Given the description of an element on the screen output the (x, y) to click on. 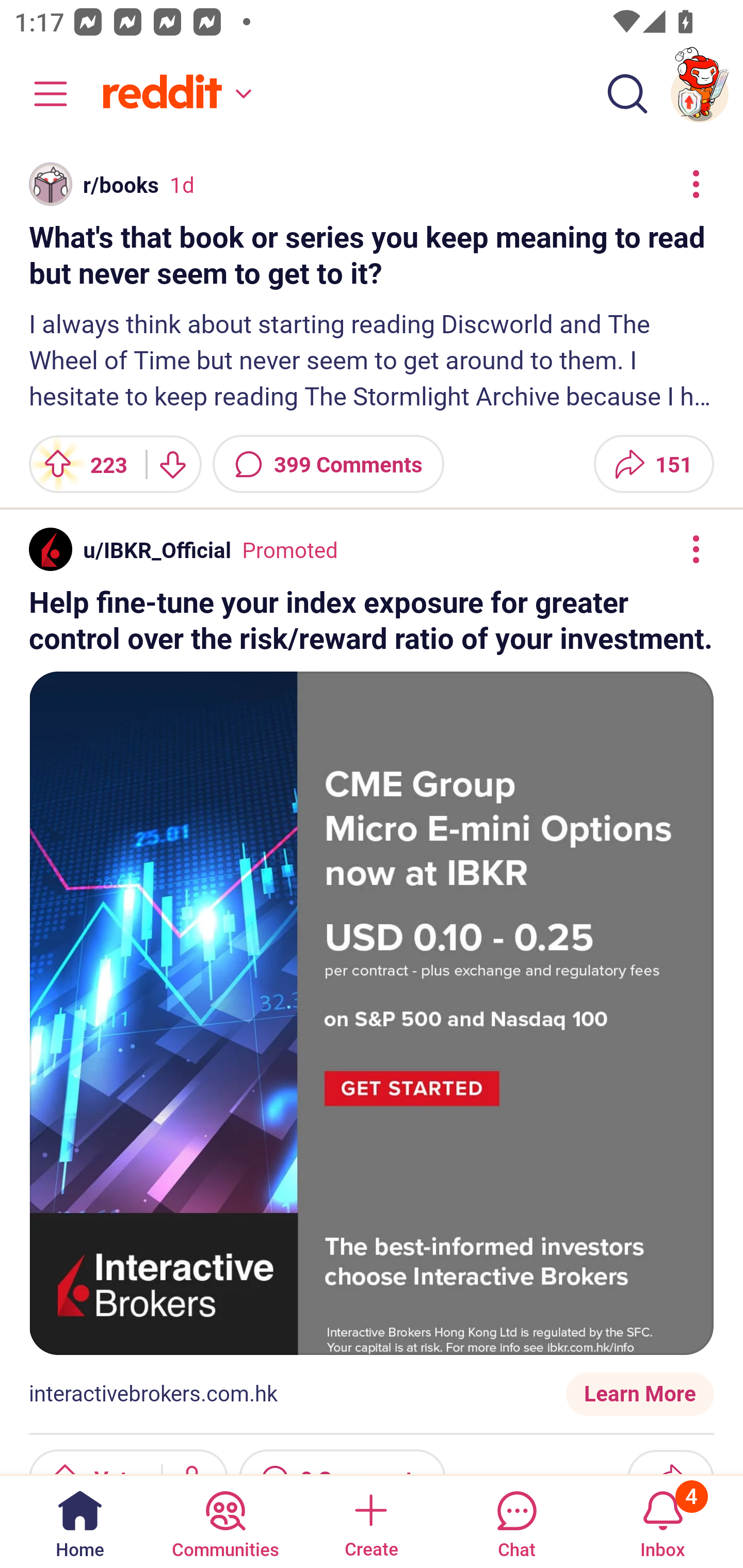
Search (626, 93)
TestAppium002 account (699, 93)
Community menu (41, 94)
Home feed (173, 94)
Home (80, 1520)
Communities (225, 1520)
Create a post Create (370, 1520)
Chat (516, 1520)
Inbox, has 4 notifications 4 Inbox (662, 1520)
